Given the description of an element on the screen output the (x, y) to click on. 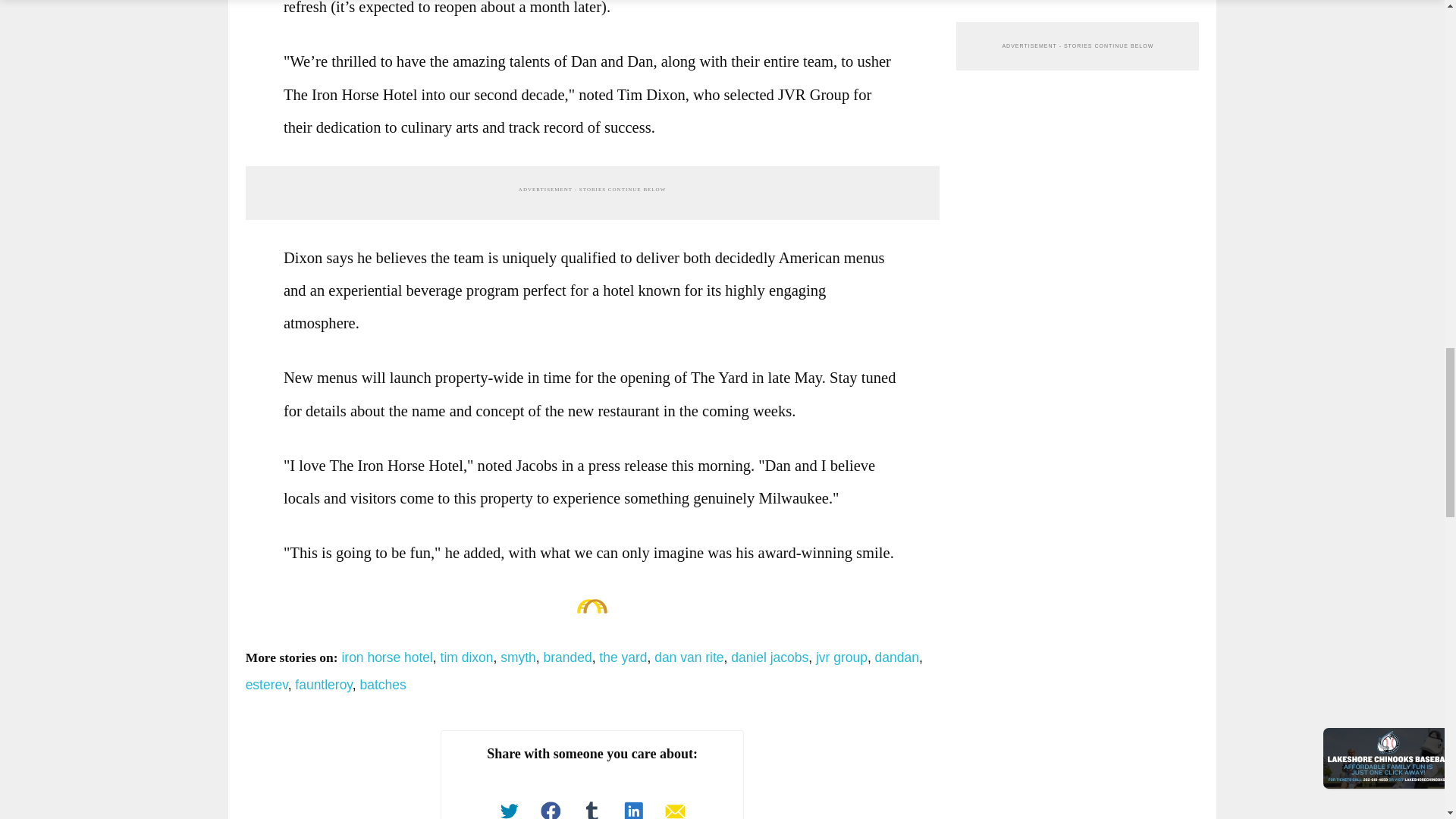
iron horse hotel (386, 657)
branded (567, 657)
daniel jacobs (769, 657)
jvr group (841, 657)
dan van rite (688, 657)
esterev (267, 684)
batches (382, 684)
fauntleroy (323, 684)
dandan (896, 657)
tim dixon (467, 657)
the yard (622, 657)
smyth (517, 657)
